Given the description of an element on the screen output the (x, y) to click on. 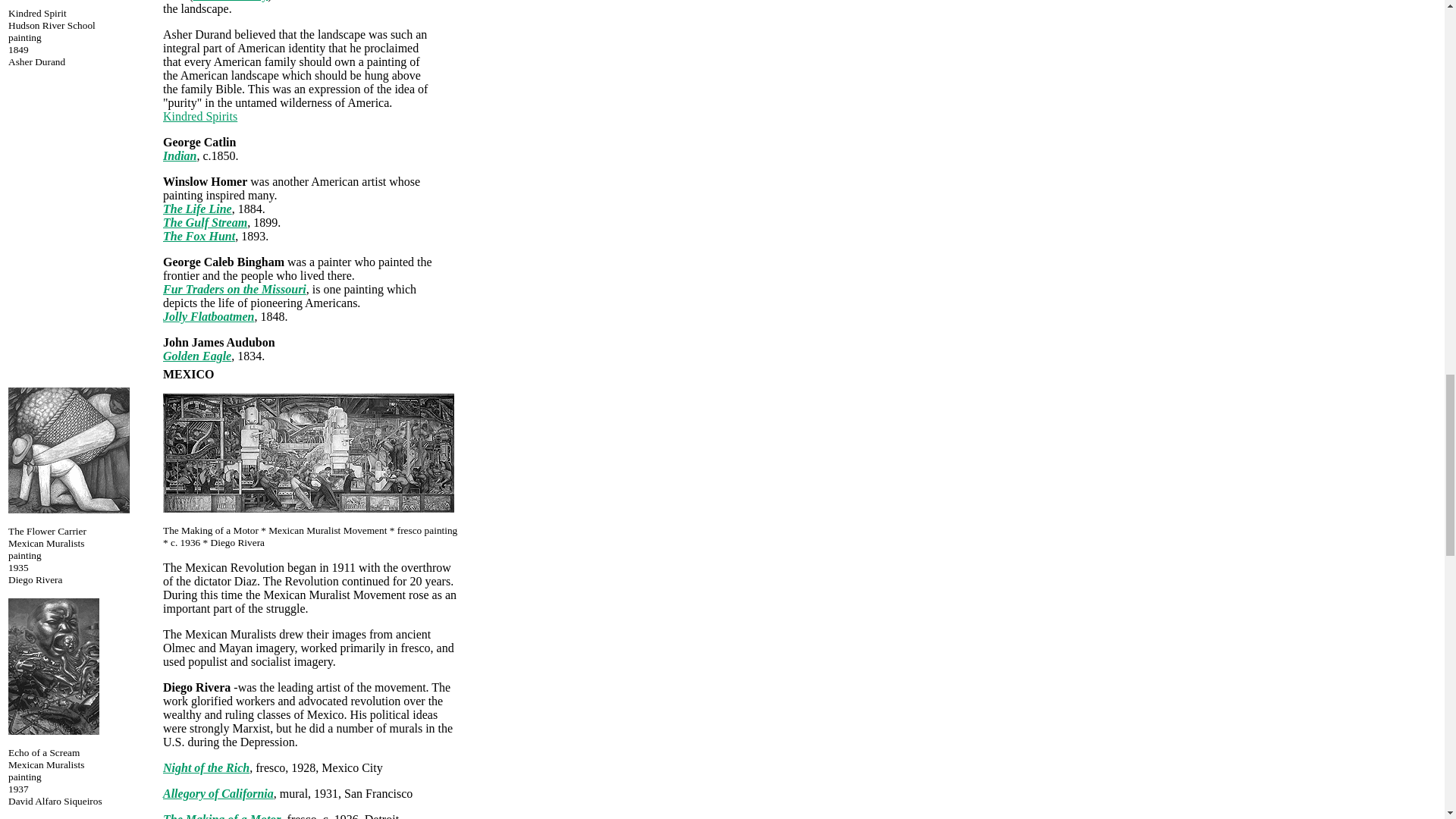
The Life Line (197, 208)
Genesee Valley (230, 0)
Night of the Rich (205, 767)
Golden Eagle (197, 355)
Kindred Spirits (200, 115)
The Gulf Stream (205, 222)
Fur Traders on the Missouri (234, 288)
Indian (179, 155)
Jolly Flatboatmen (208, 316)
The Fox Hunt (198, 236)
